Given the description of an element on the screen output the (x, y) to click on. 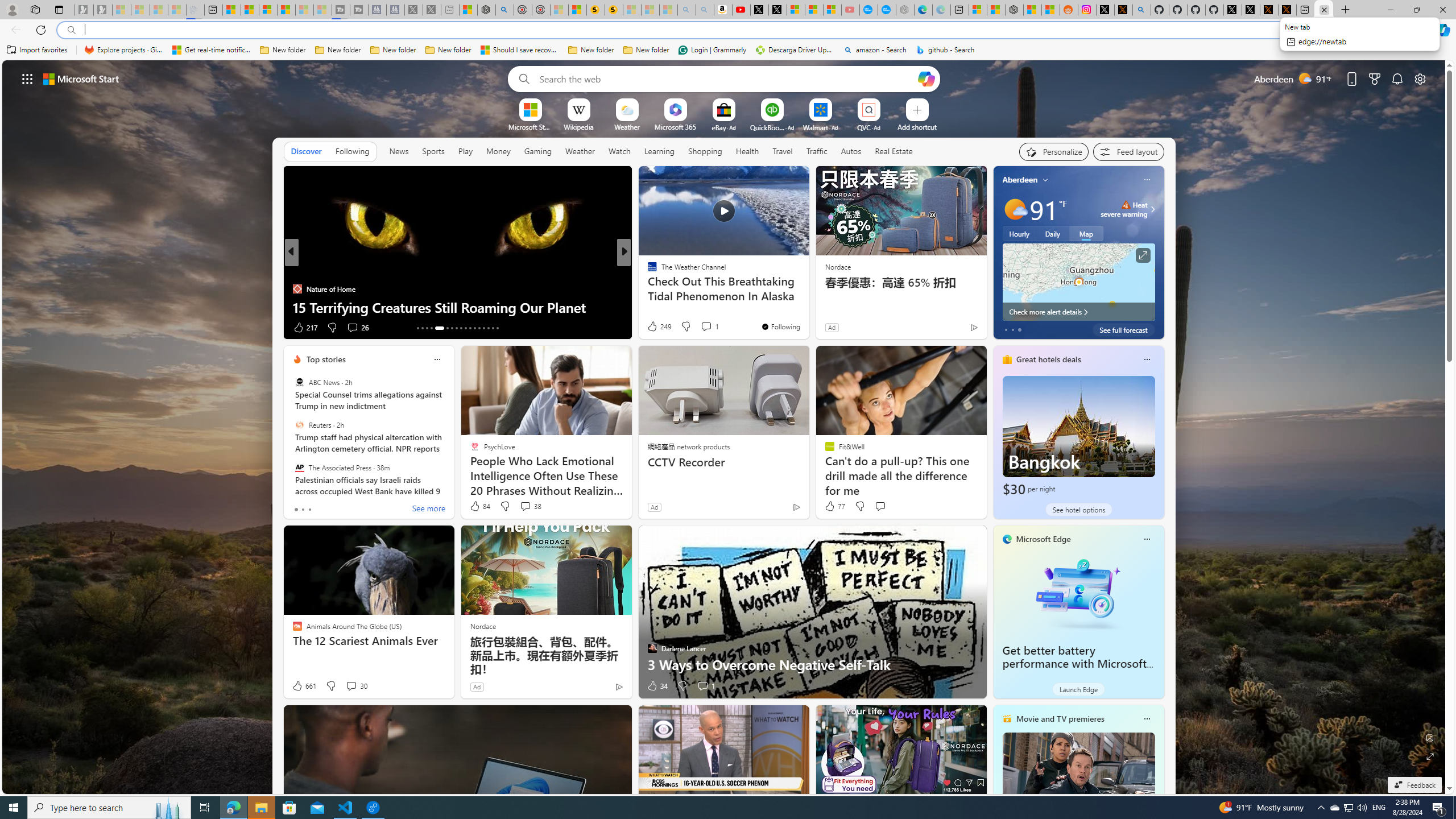
Page settings (1420, 78)
Forge of Empires (668, 288)
View comments 192 Comment (709, 327)
